Given the description of an element on the screen output the (x, y) to click on. 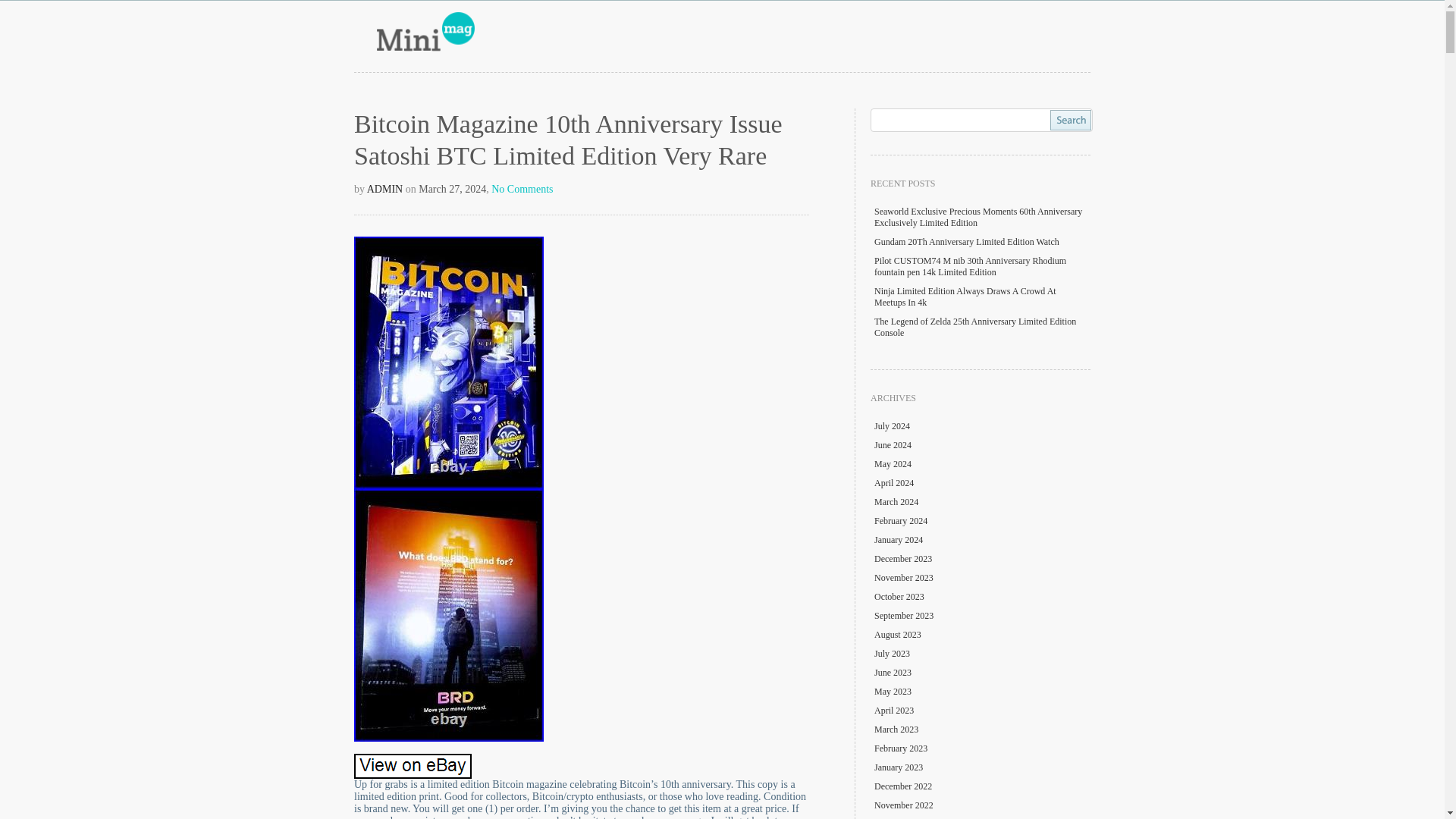
ADMIN (384, 188)
The Legend of Zelda 25th Anniversary Limited Edition Console (975, 327)
February 2024 (901, 520)
Posts by admin (384, 188)
April 2024 (894, 482)
July 2024 (892, 425)
Gundam 20Th Anniversary Limited Edition Watch (967, 241)
March 2024 (896, 501)
January 2024 (899, 539)
Ninja Limited Edition Always Draws A Crowd At Meetups In 4k (966, 296)
May 2024 (893, 463)
June 2024 (893, 444)
